Given the description of an element on the screen output the (x, y) to click on. 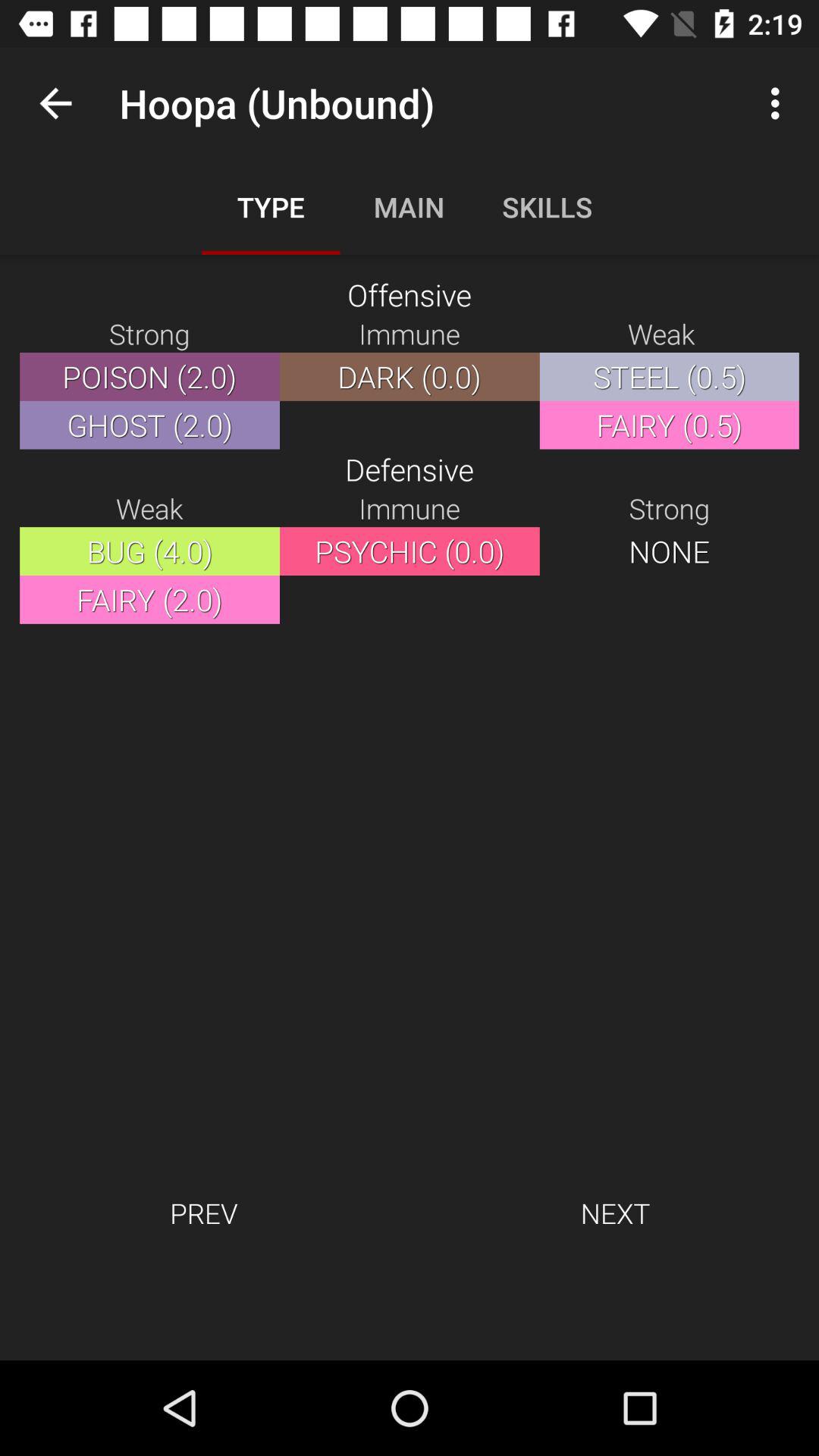
turn on icon above the weak (779, 103)
